Given the description of an element on the screen output the (x, y) to click on. 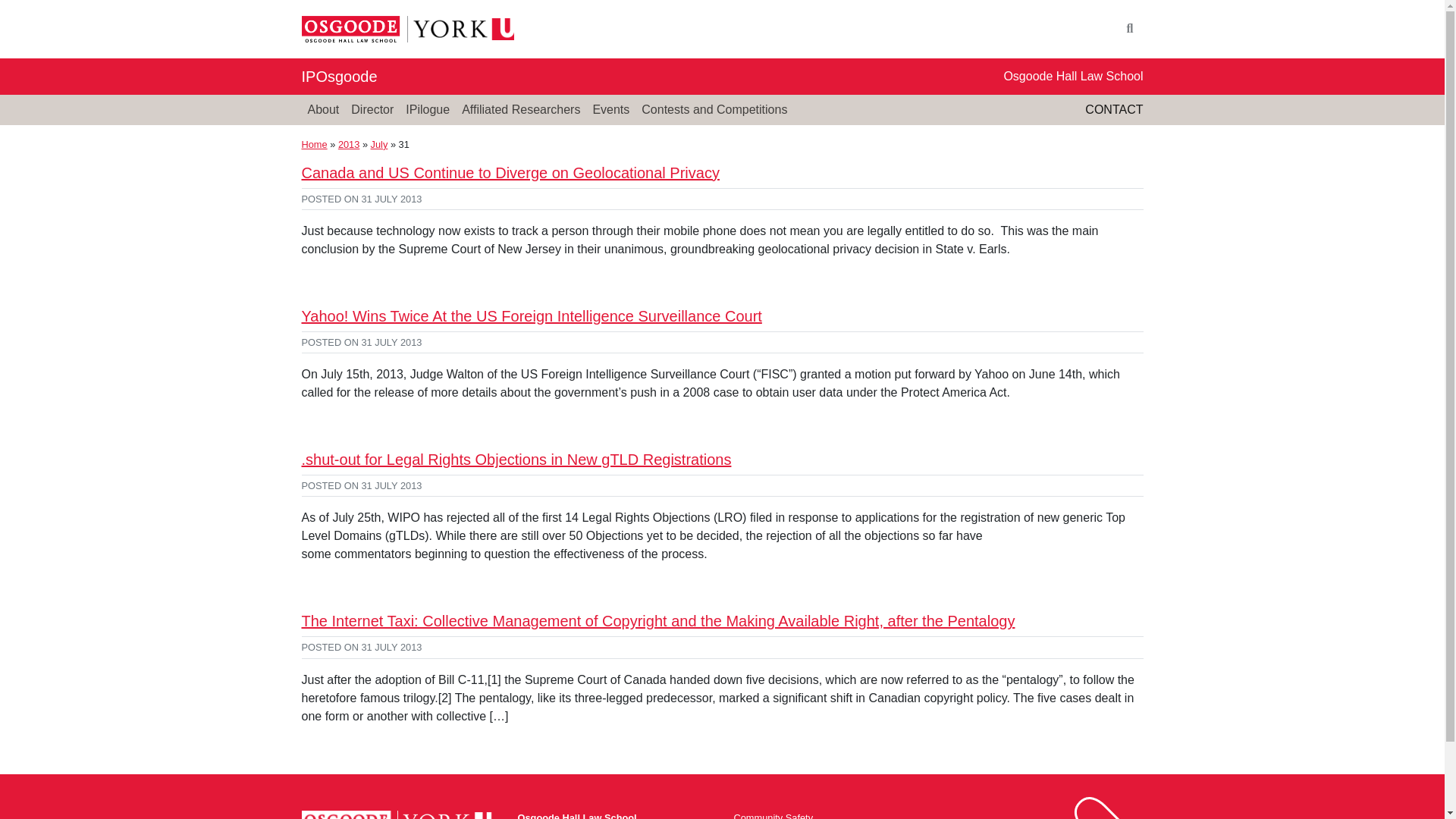
2013 (348, 143)
Search (1129, 28)
Canada and US Continue to Diverge on Geolocational Privacy (510, 172)
CONTACT (1113, 109)
IPOsgoode (339, 76)
About (323, 110)
Contests and Competitions (713, 110)
Events (610, 110)
